Given the description of an element on the screen output the (x, y) to click on. 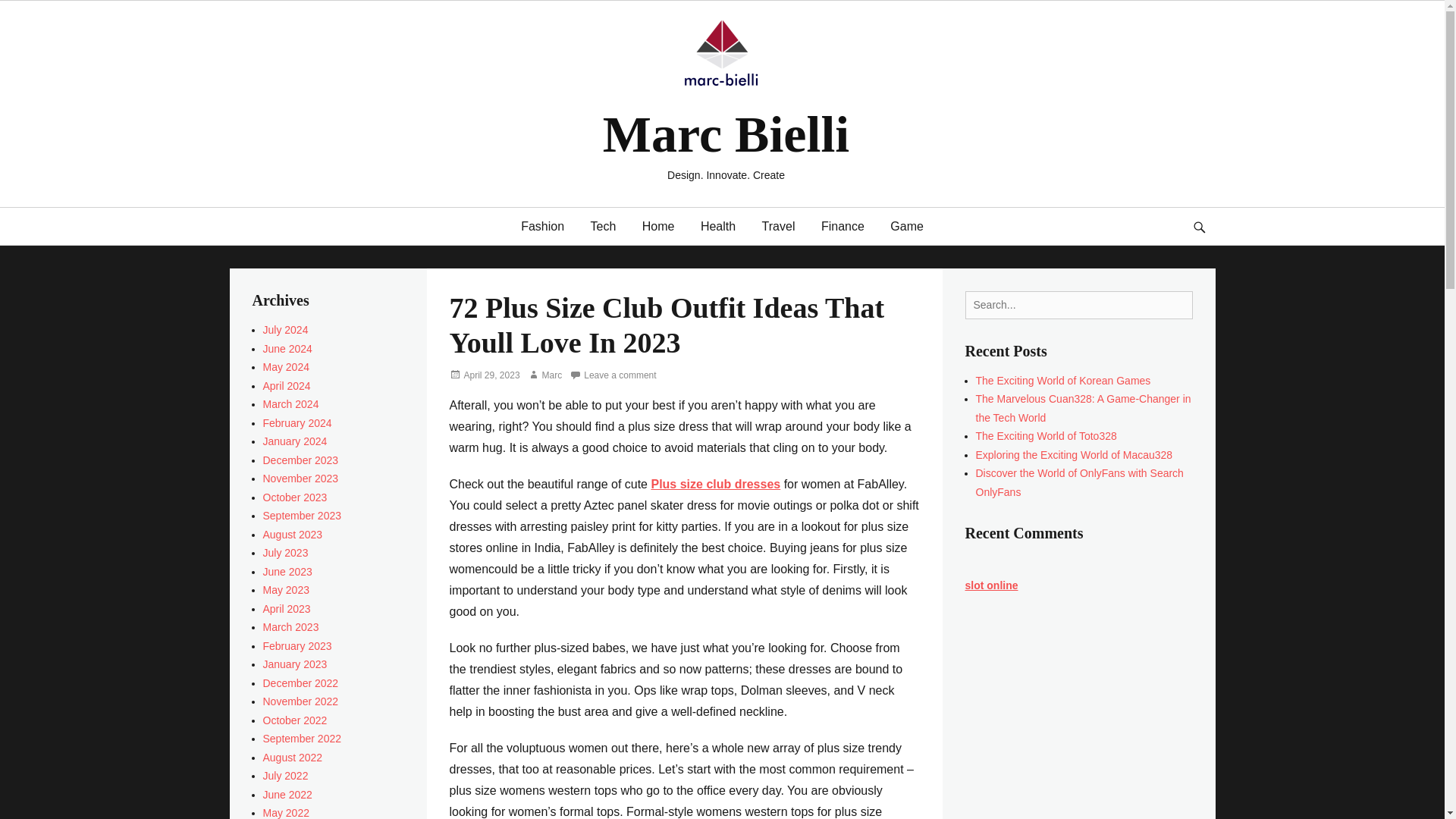
Plus size club dresses (715, 483)
Leave a comment (612, 375)
Search for: (1077, 305)
Home (657, 226)
April 2023 (286, 608)
July 2023 (284, 552)
March 2023 (290, 626)
October 2023 (294, 497)
Marc Bielli (725, 133)
January 2024 (294, 440)
May 2023 (285, 589)
Marc (544, 375)
March 2024 (290, 404)
June 2024 (286, 348)
February 2023 (296, 645)
